Given the description of an element on the screen output the (x, y) to click on. 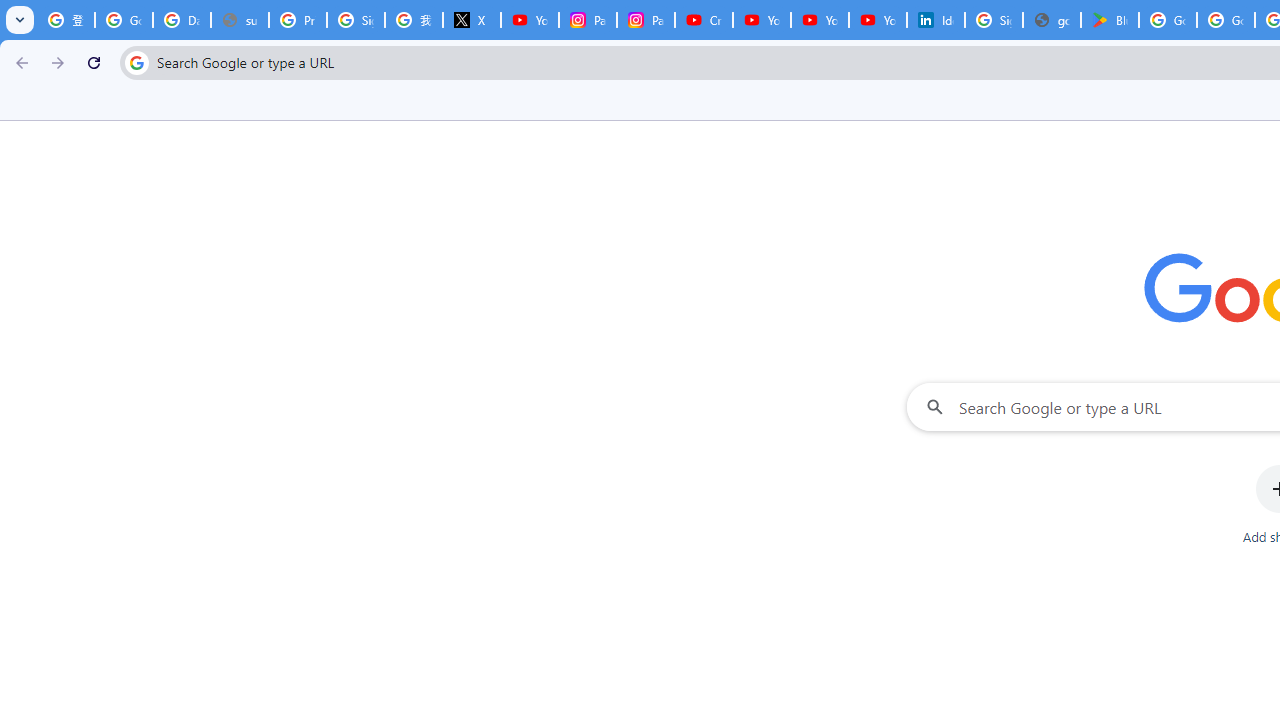
support.google.com - Network error (239, 20)
Sign in - Google Accounts (993, 20)
YouTube Content Monetization Policies - How YouTube Works (529, 20)
Privacy Help Center - Policies Help (297, 20)
YouTube Culture & Trends - YouTube Top 10, 2021 (877, 20)
X (471, 20)
YouTube Culture & Trends - YouTube Top 10, 2021 (819, 20)
